Given the description of an element on the screen output the (x, y) to click on. 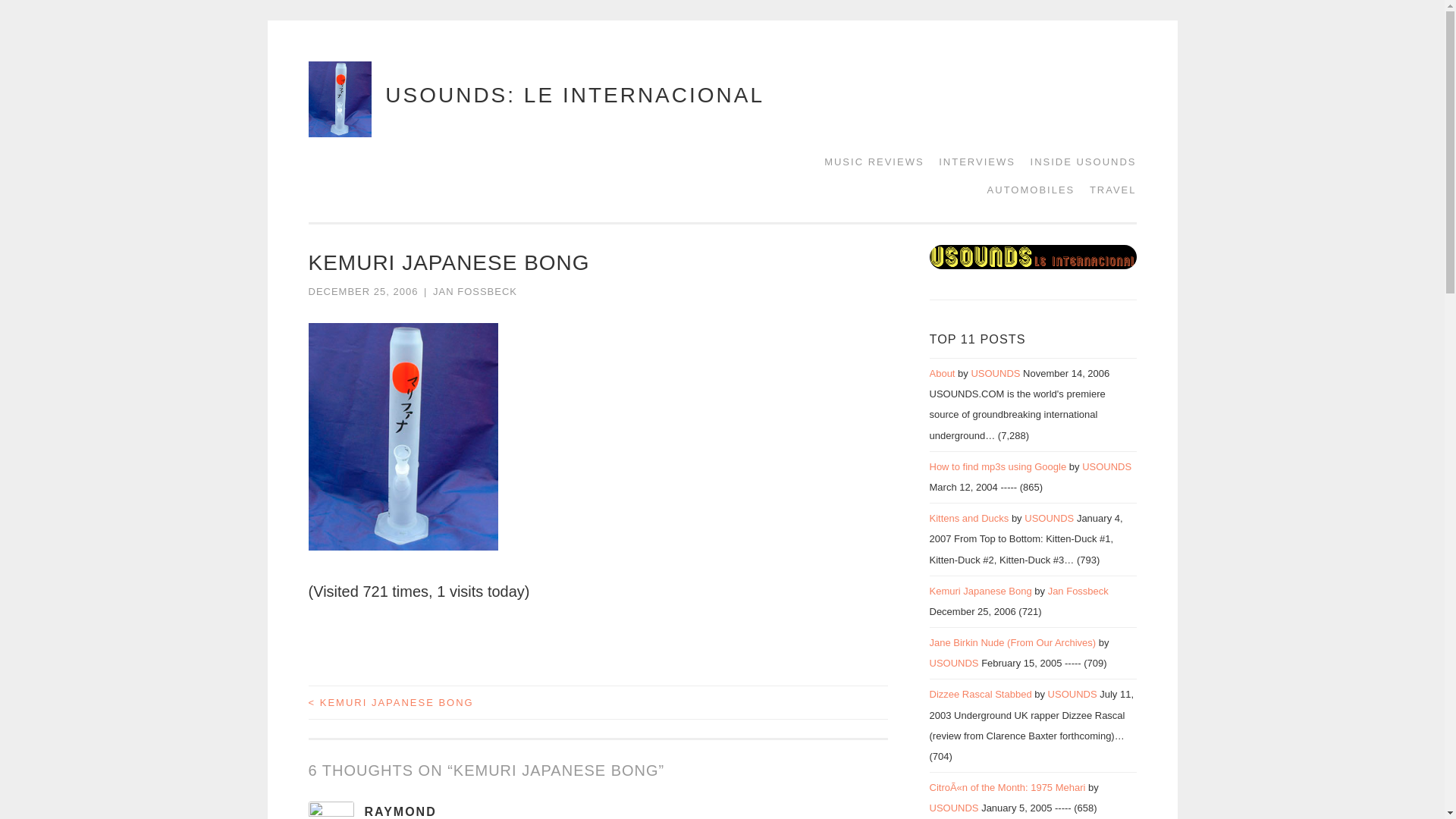
USOUNDS (954, 663)
USOUNDS (1049, 518)
USOUNDS (1106, 466)
MUSIC REVIEWS (868, 162)
Kittens and Ducks (969, 518)
RAYMOND (399, 811)
Dizzee Rascal Stabbed (981, 694)
TRAVEL (1107, 189)
AUTOMOBILES (1025, 189)
